Given the description of an element on the screen output the (x, y) to click on. 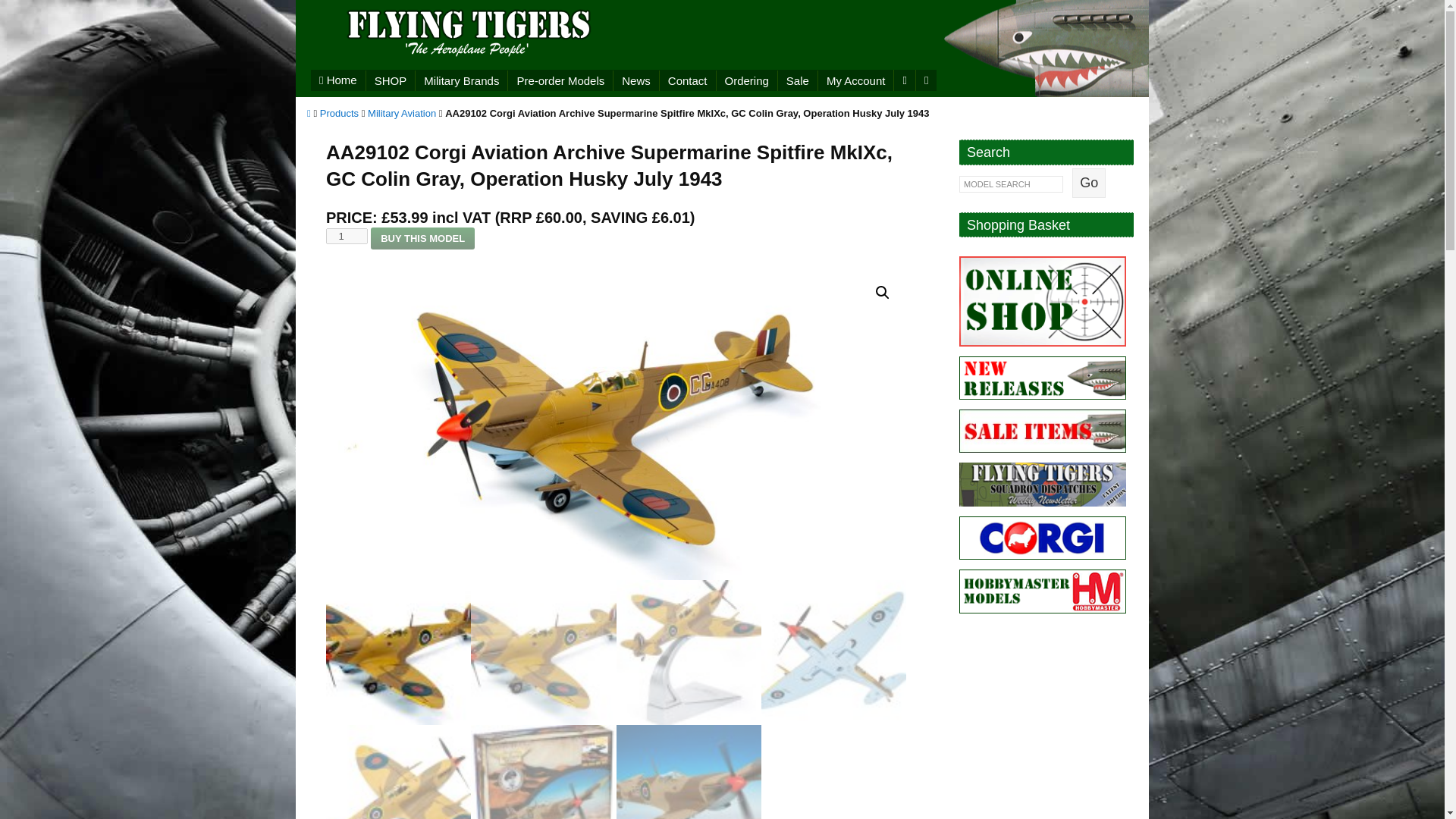
Sale (796, 79)
Ordering (746, 79)
News (635, 79)
SHOP (390, 79)
Contact (687, 79)
Military Brands (460, 79)
Home (338, 79)
Pre-order Models (560, 79)
1 (347, 236)
Go (1088, 183)
